Given the description of an element on the screen output the (x, y) to click on. 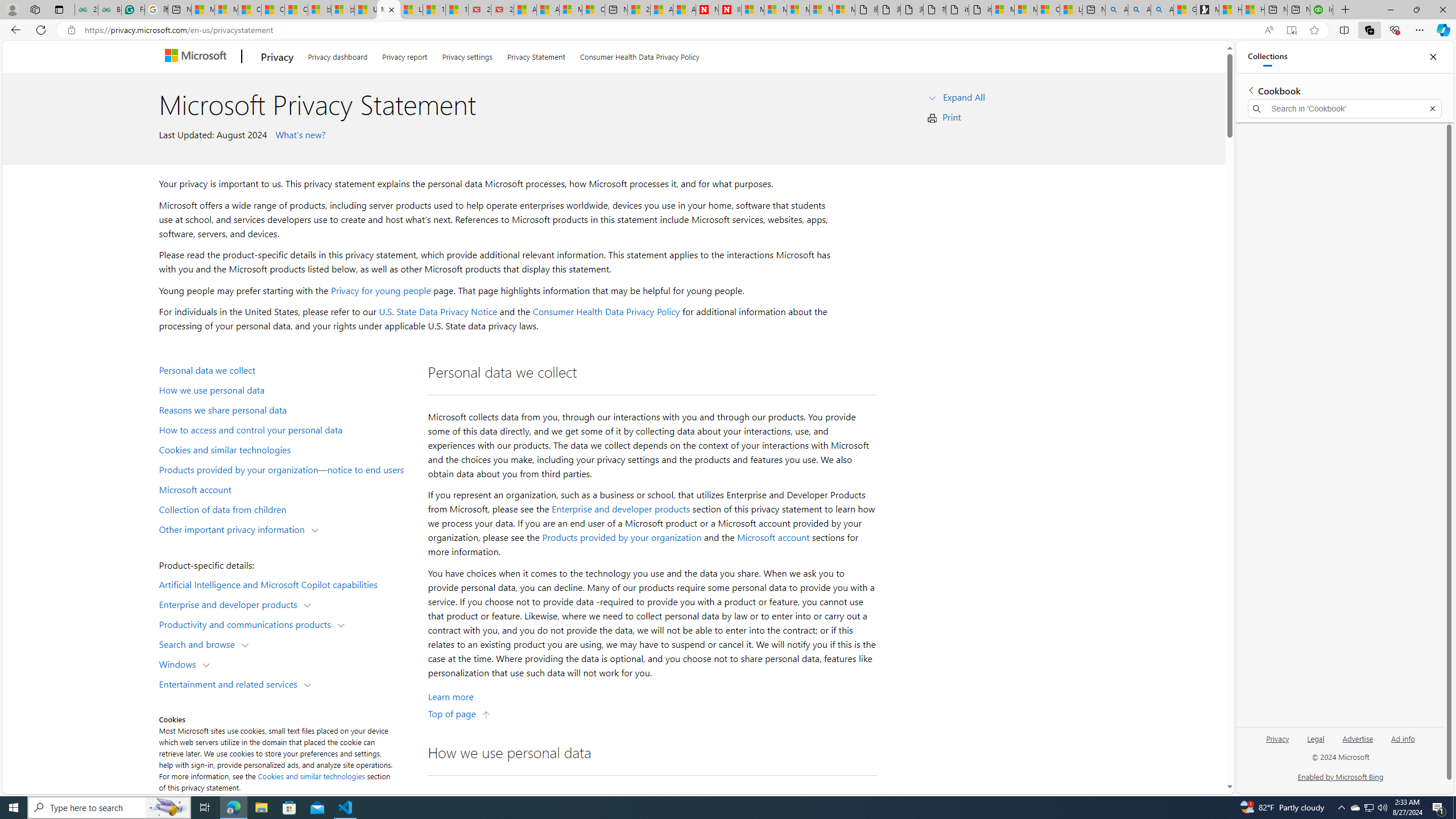
U.S. State Data Privacy Notice (437, 311)
Top of page (459, 713)
Privacy dashboard (337, 54)
Print (951, 116)
Cloud Computing Services | Microsoft Azure (593, 9)
Privacy report (404, 54)
Reasons we share personal data (287, 409)
How to access and control your personal data (287, 428)
